Given the description of an element on the screen output the (x, y) to click on. 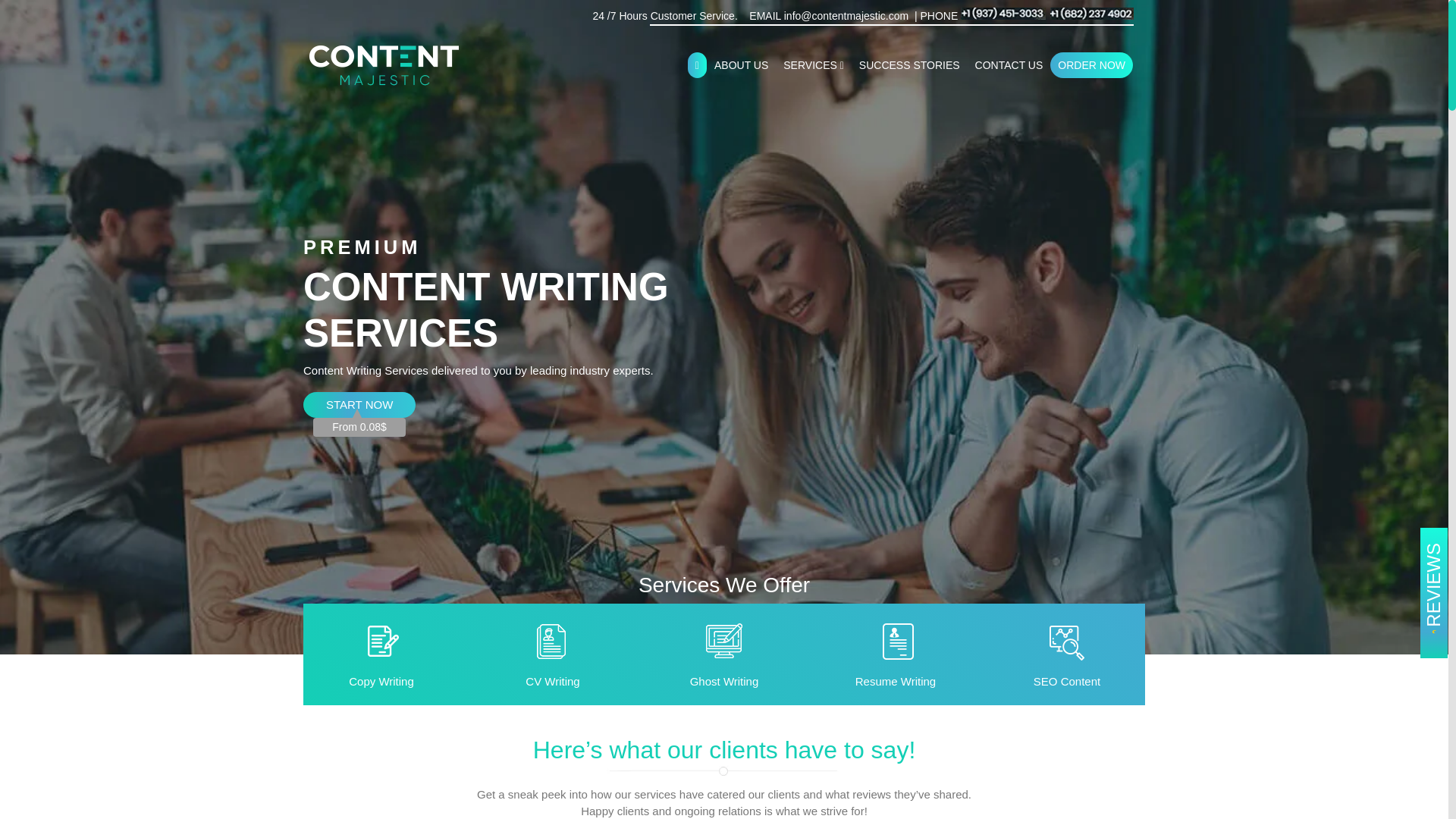
SERVICES (813, 64)
CONTACT US (1009, 64)
SUCCESS STORIES (909, 64)
START NOW (358, 405)
ABOUT US (741, 64)
ORDER NOW (1090, 64)
